Given the description of an element on the screen output the (x, y) to click on. 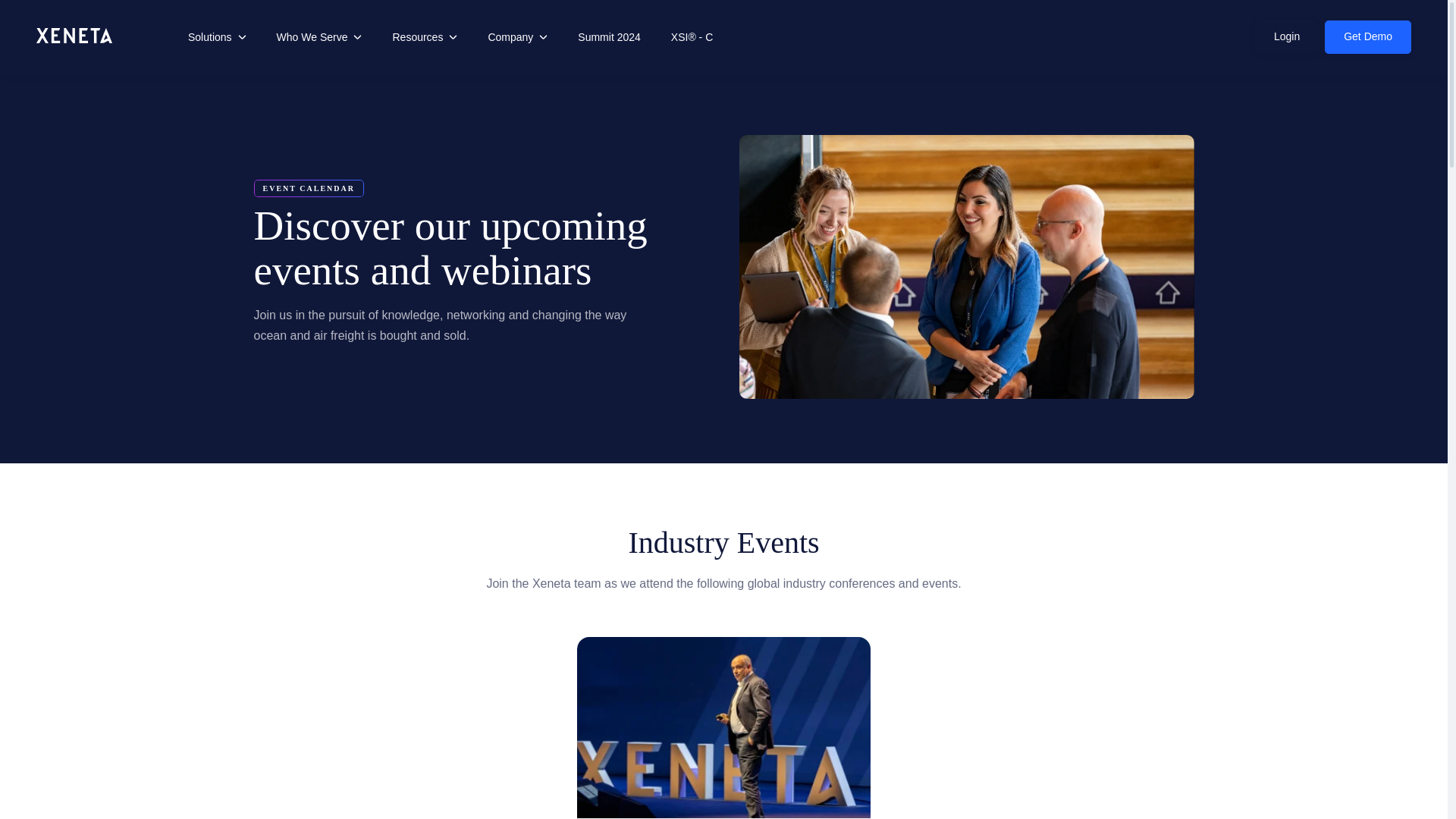
Ocean Intelligence (551, 150)
Shipping Terms Glossary (996, 187)
All Products (252, 137)
Resources (394, 166)
Air Intelligence (424, 37)
Login (792, 150)
Air Freight Advanced (1287, 37)
Solutions (792, 219)
Contact Us (217, 37)
Analysts (640, 272)
Methodology (880, 289)
Summit 2024 (254, 210)
Case Studies (608, 37)
Subscribe (344, 137)
